Given the description of an element on the screen output the (x, y) to click on. 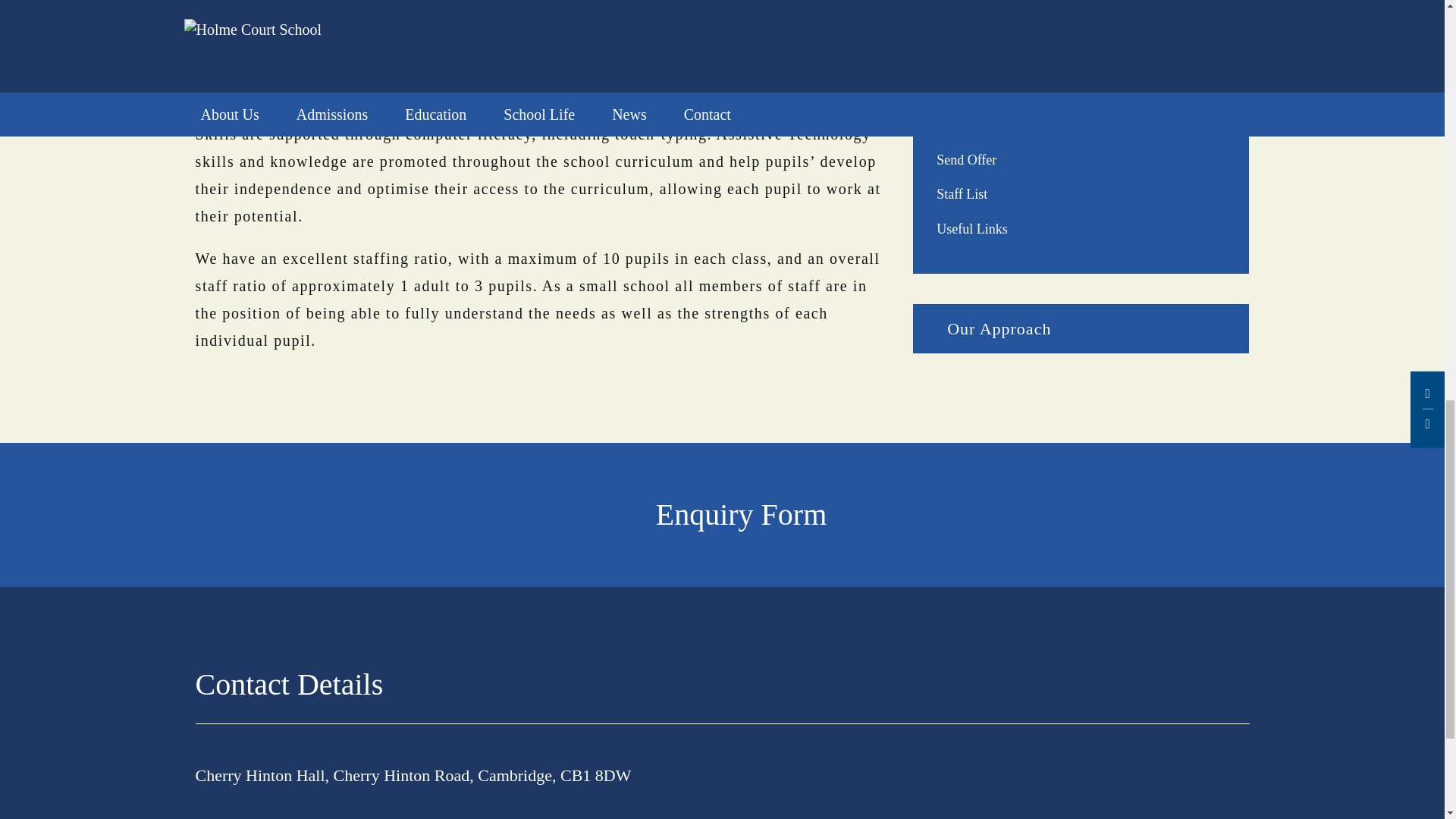
Facebook (1187, 688)
Twitter (1219, 688)
